Given the description of an element on the screen output the (x, y) to click on. 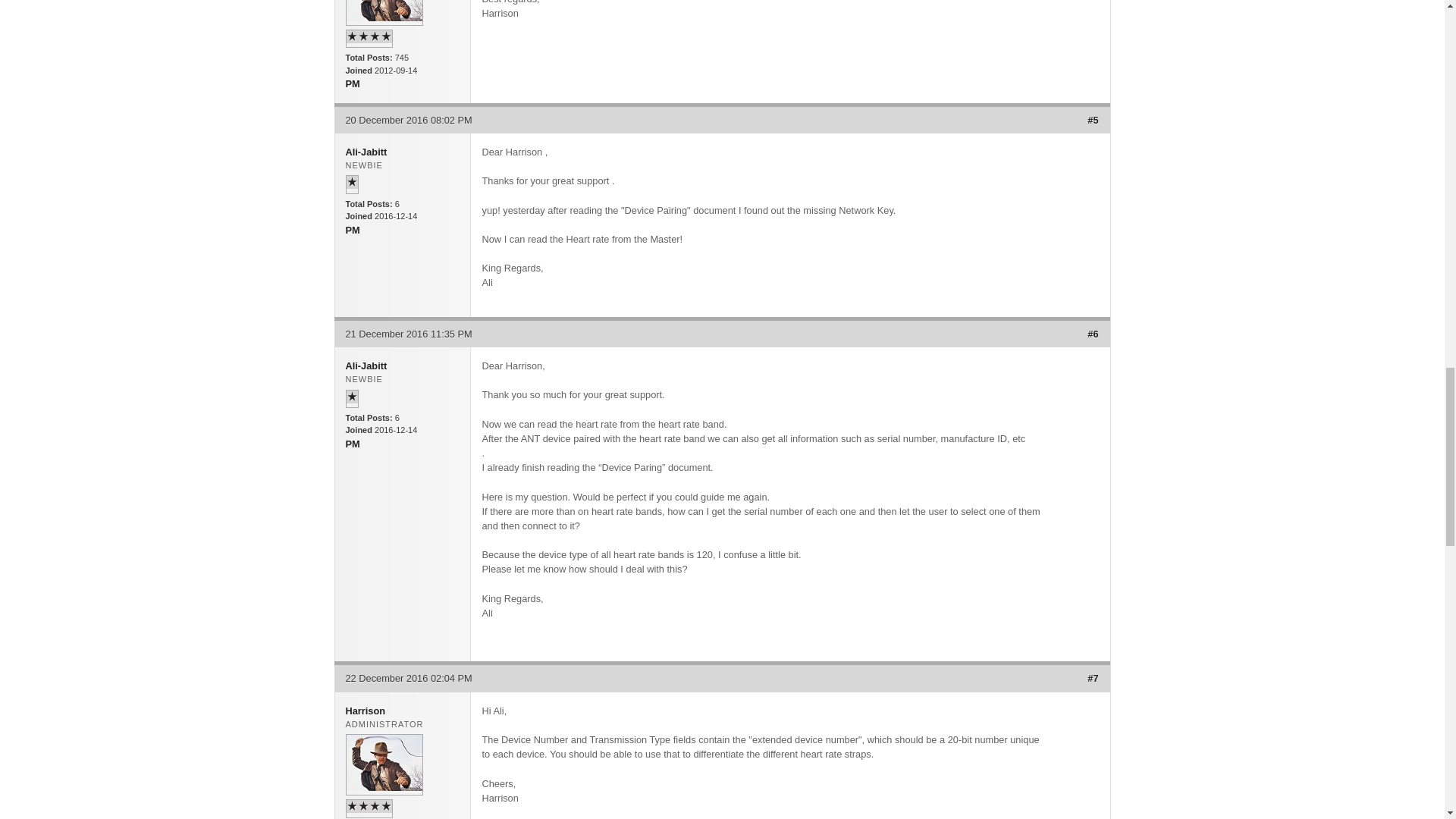
Permalink to this post (1092, 120)
Permalink to this post (1092, 333)
Permalink to this post (1092, 677)
